Given the description of an element on the screen output the (x, y) to click on. 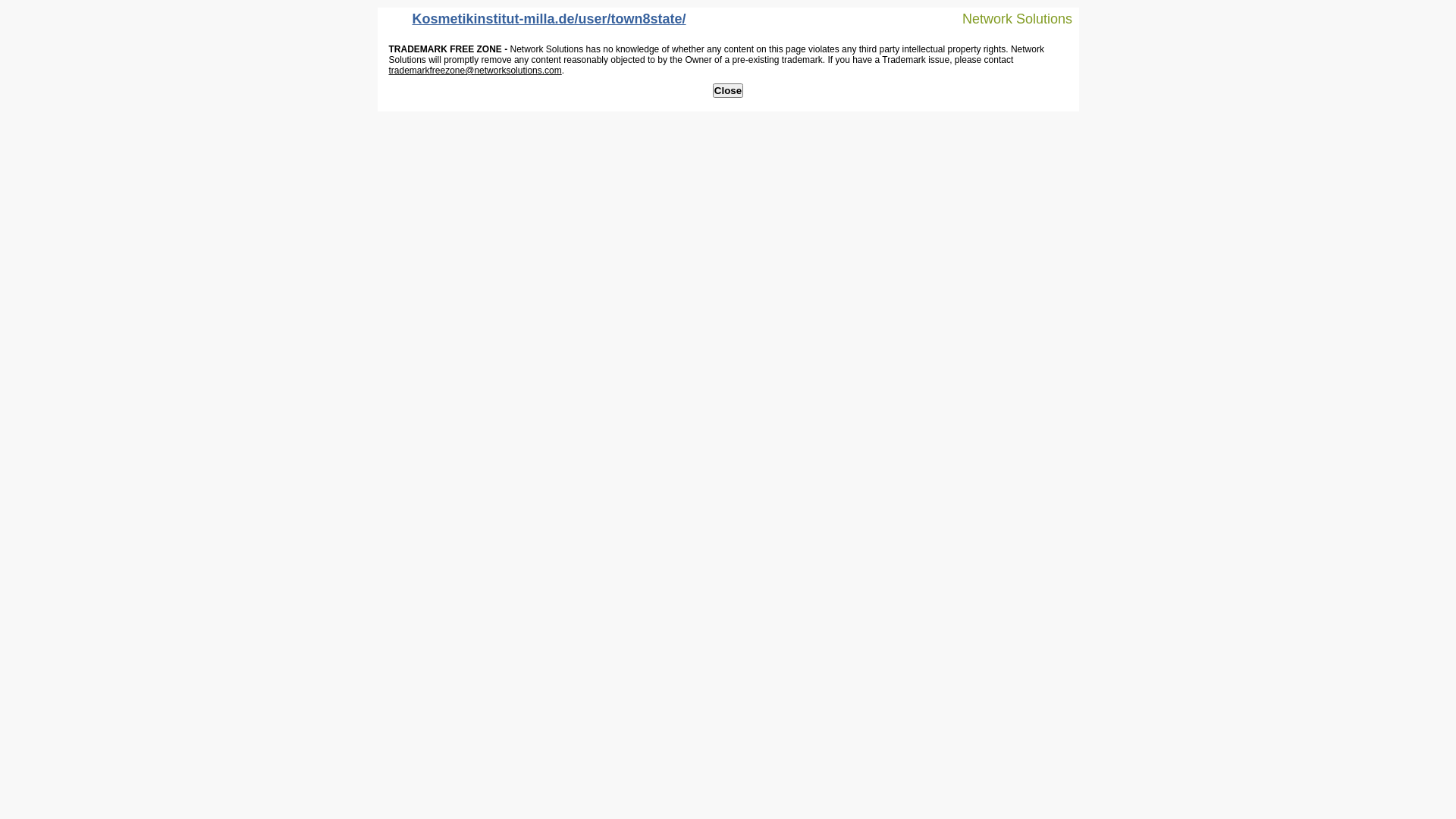
Close Element type: text (727, 90)
Kosmetikinstitut-milla.de/user/town8state/ Element type: text (535, 21)
trademarkfreezone@networksolutions.com Element type: text (474, 70)
Network Solutions Element type: text (1007, 17)
